Given the description of an element on the screen output the (x, y) to click on. 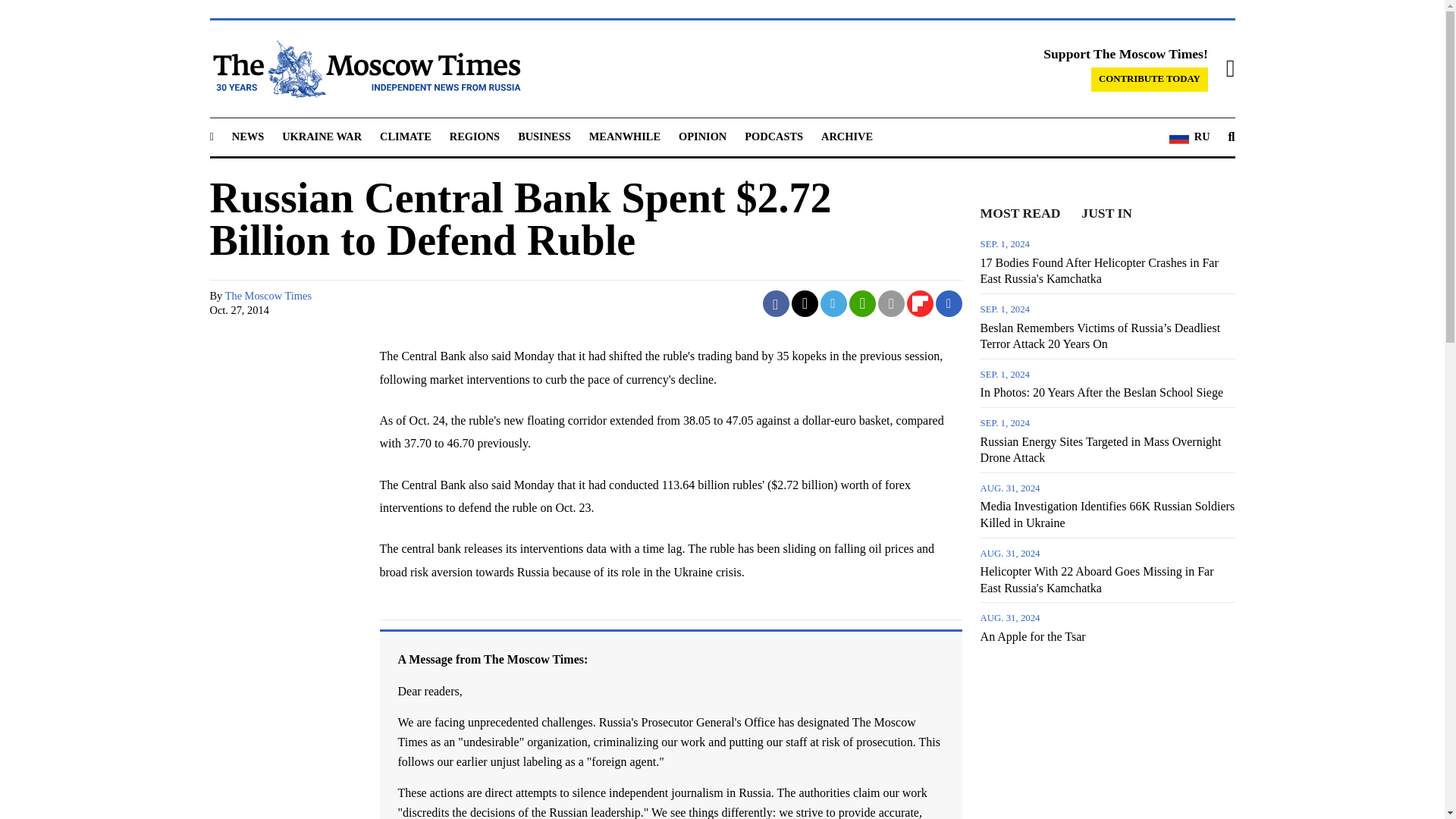
The Moscow Times (268, 295)
Share on Twitter (805, 303)
RU (1189, 137)
Share on Flipboard (920, 303)
Share on Telegram (834, 303)
BUSINESS (544, 136)
The Moscow Times - Independent News from Russia (364, 68)
Share on Facebook (775, 303)
REGIONS (474, 136)
ARCHIVE (846, 136)
